Given the description of an element on the screen output the (x, y) to click on. 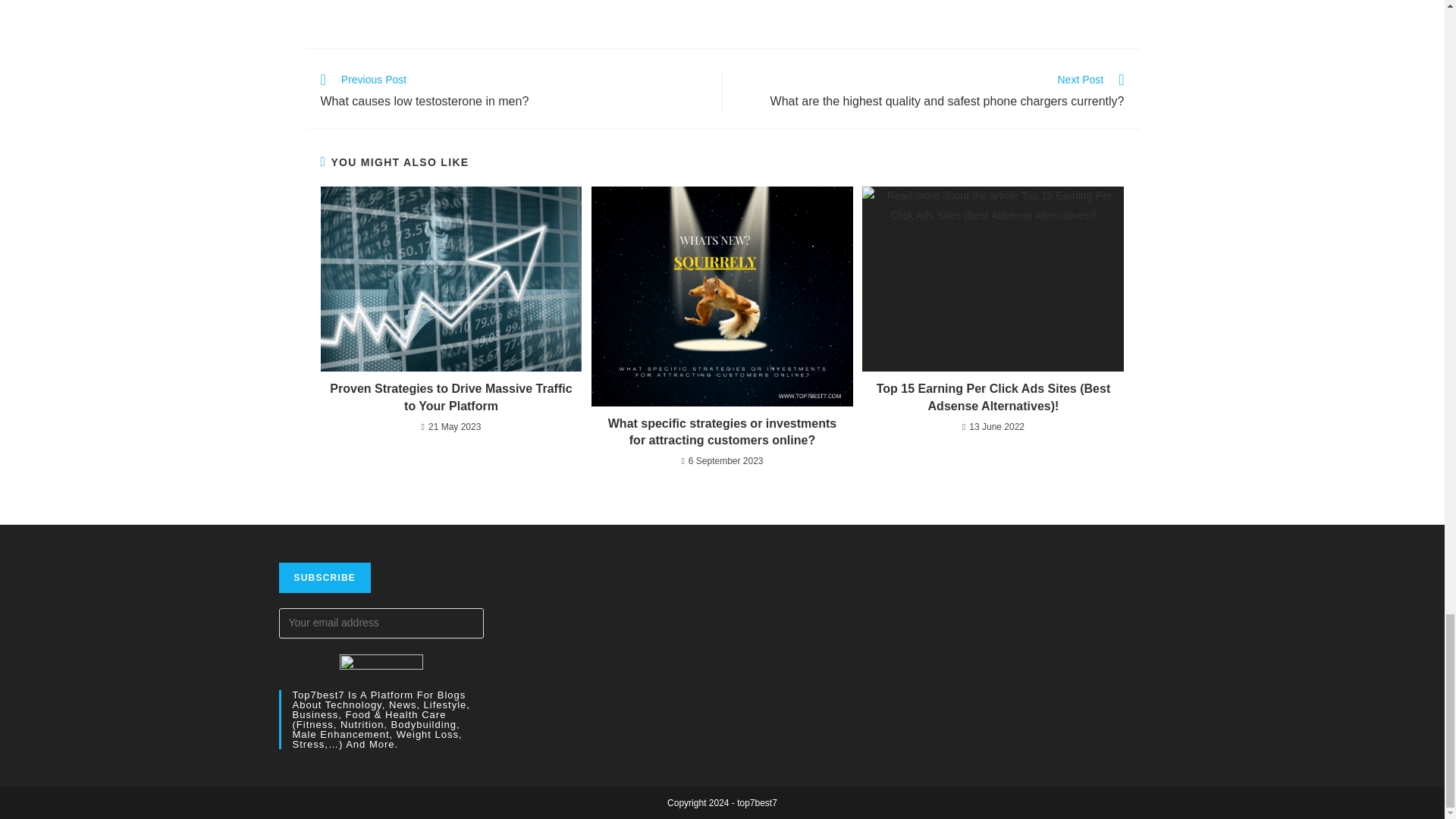
Subscribe (325, 577)
